Given the description of an element on the screen output the (x, y) to click on. 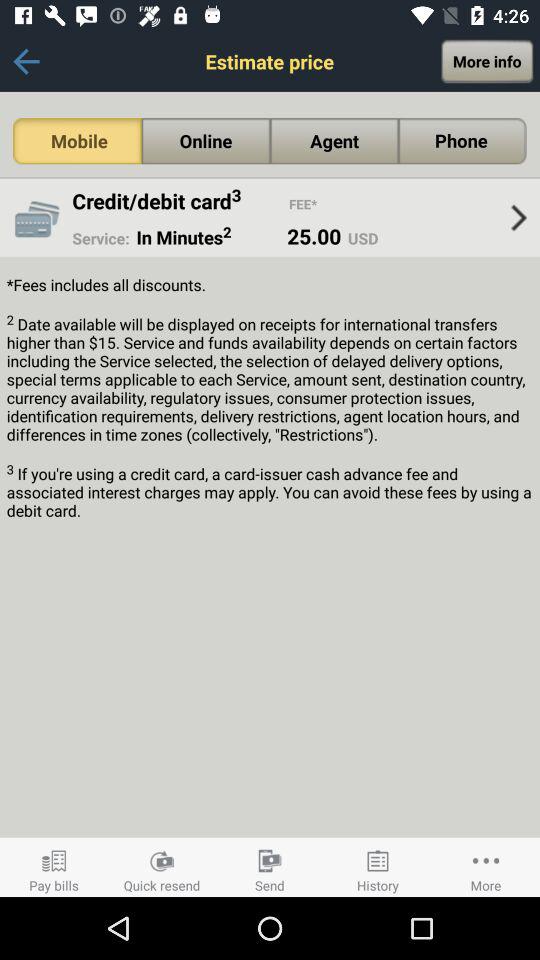
press service: item (100, 238)
